Given the description of an element on the screen output the (x, y) to click on. 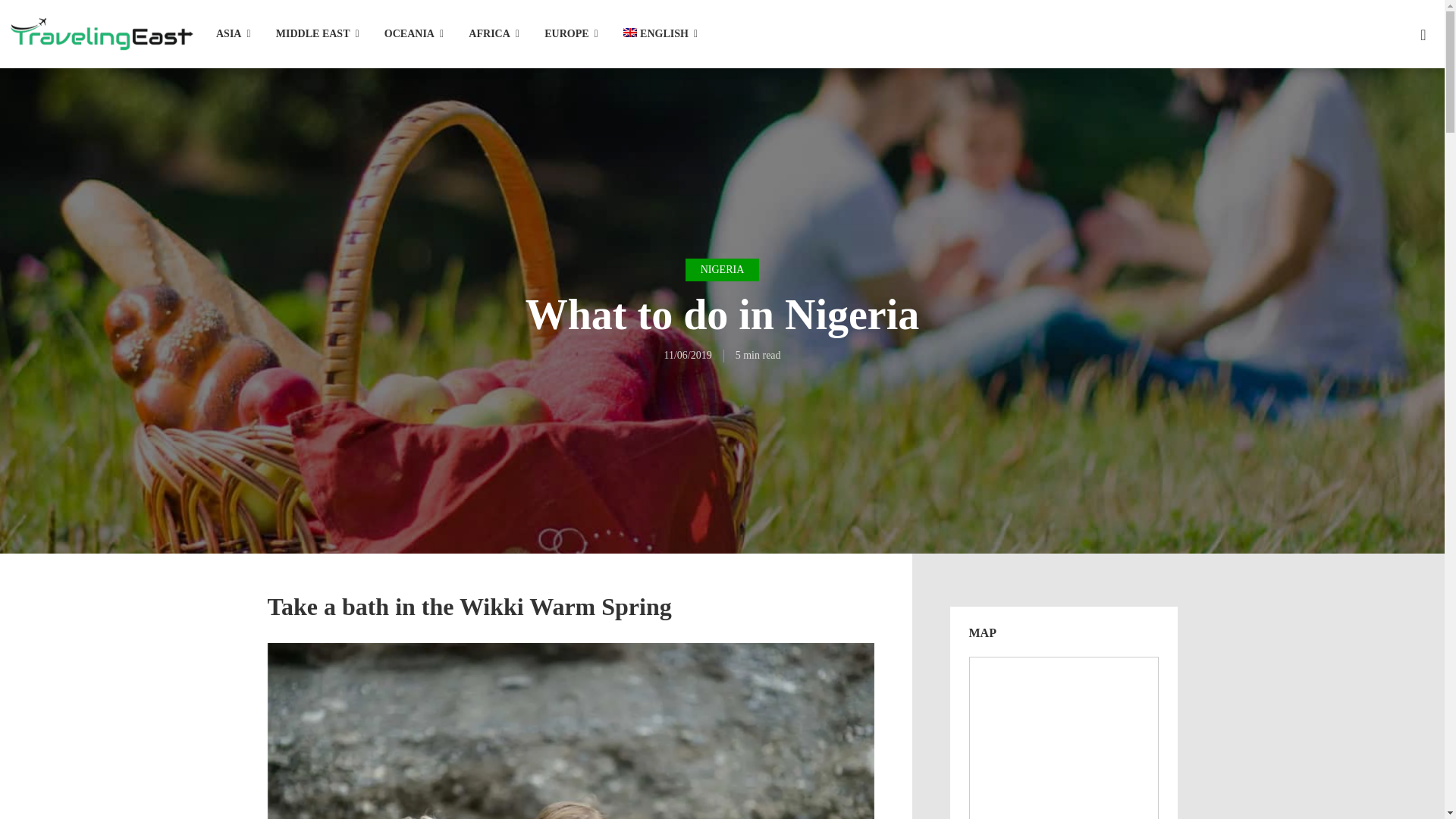
English (660, 34)
